Given the description of an element on the screen output the (x, y) to click on. 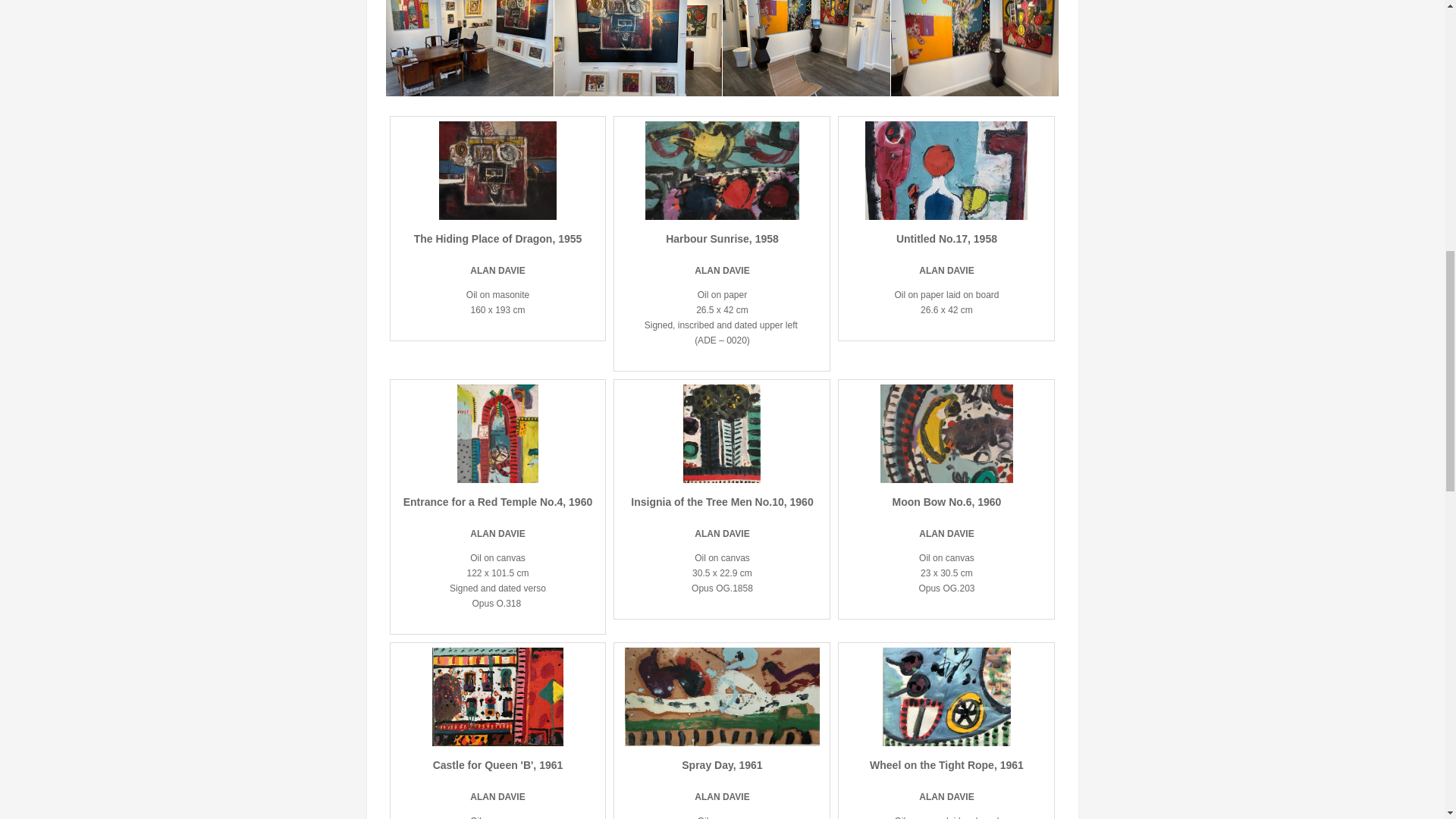
The Hiding Place of Dragon, 1955 (497, 238)
